Given the description of an element on the screen output the (x, y) to click on. 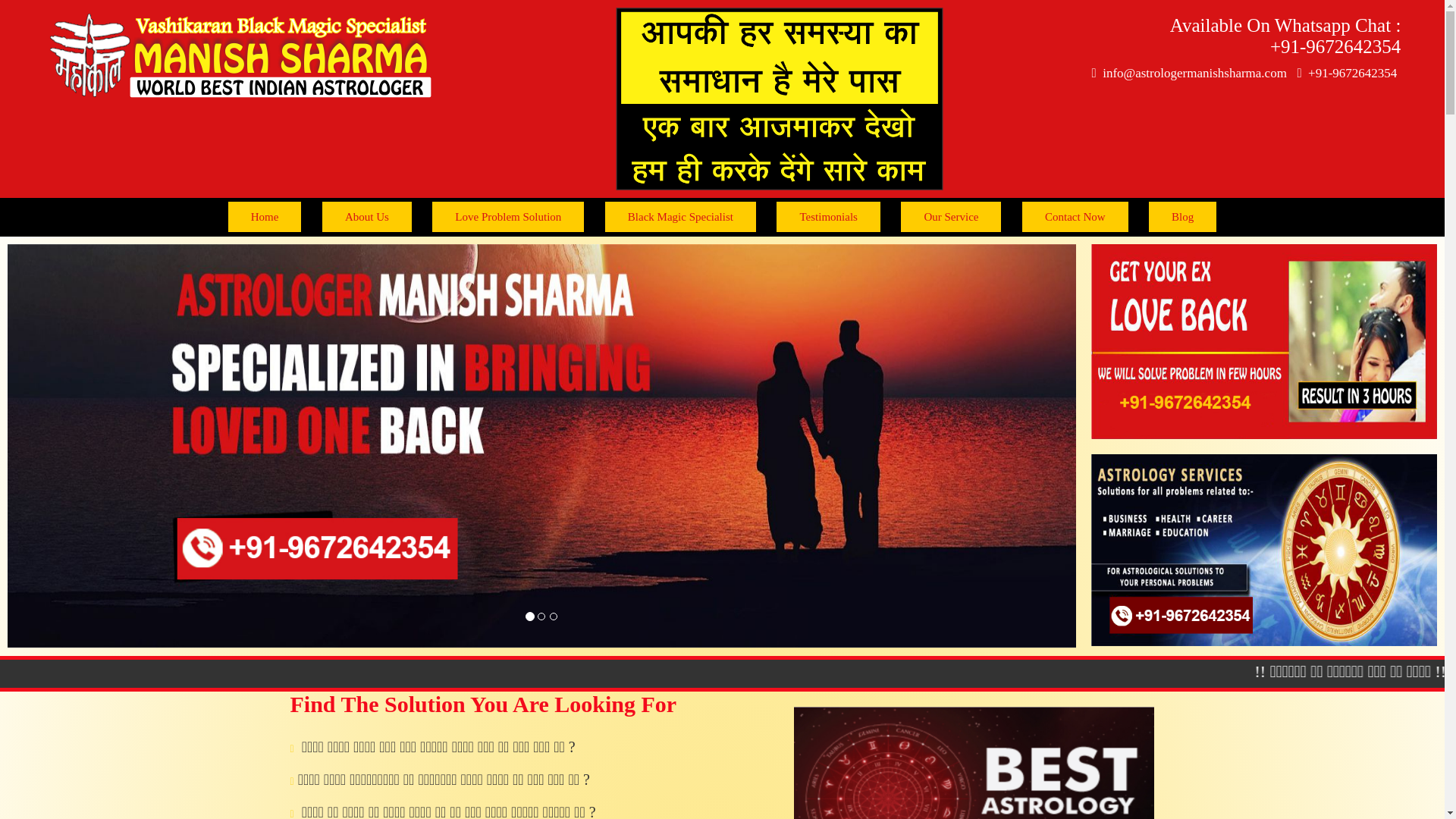
contact us (1181, 216)
Our Service (951, 216)
Contact Now (1075, 216)
home (264, 216)
About Us (366, 216)
Blog (1181, 216)
contact us (1075, 216)
Testimonials (827, 216)
Love Problem Solution (507, 216)
Wazifa For Husband (1263, 550)
about us (366, 216)
Testimonials (827, 216)
Wazifa For Husband (1263, 341)
Black Magic Specialist (680, 216)
